Given the description of an element on the screen output the (x, y) to click on. 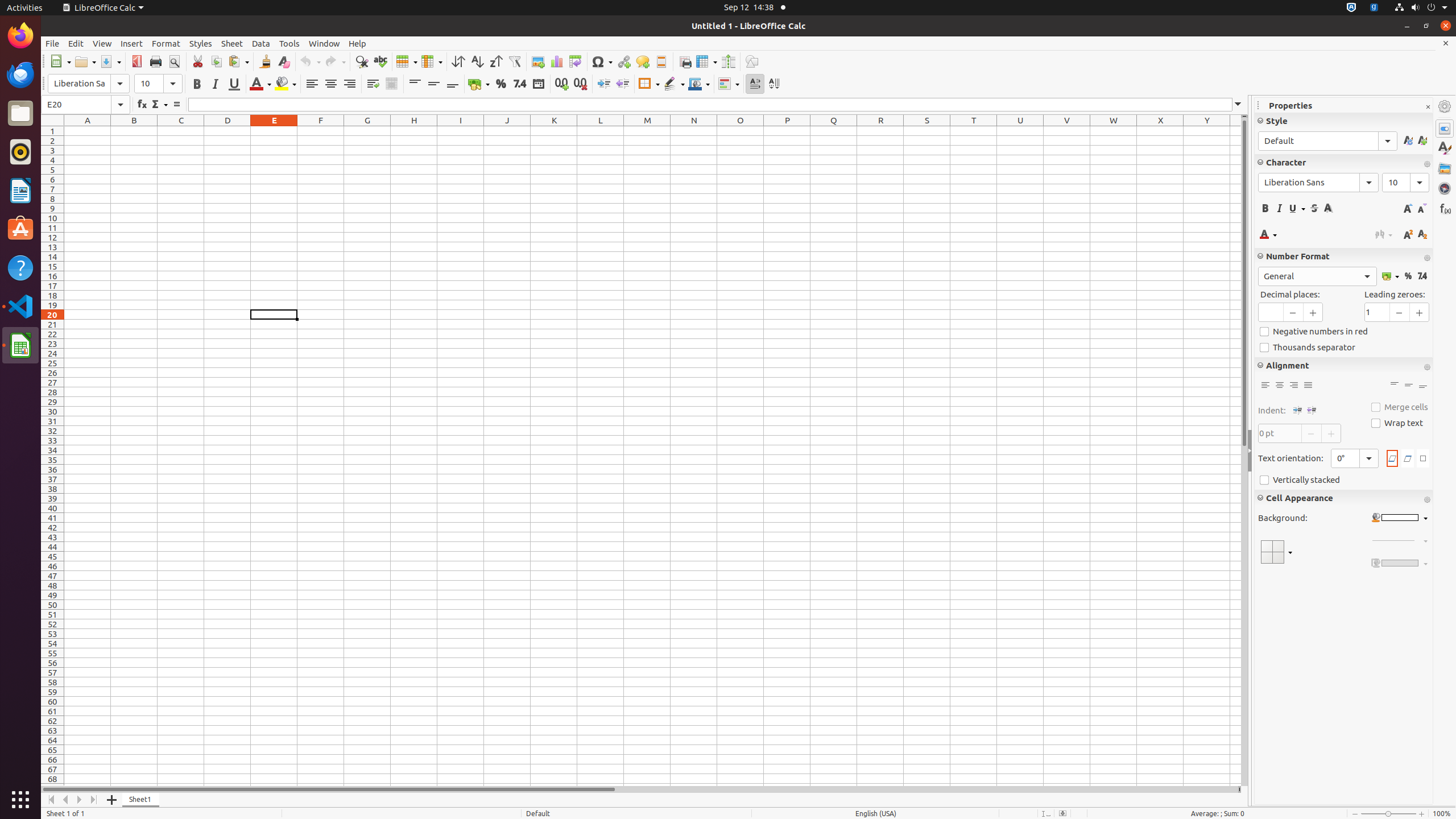
Character Spacing Element type: push-button (1383, 234)
Show Applications Element type: toggle-button (20, 799)
N1 Element type: table-cell (693, 130)
Border Color Element type: push-button (698, 83)
Files Element type: push-button (20, 113)
